Given the description of an element on the screen output the (x, y) to click on. 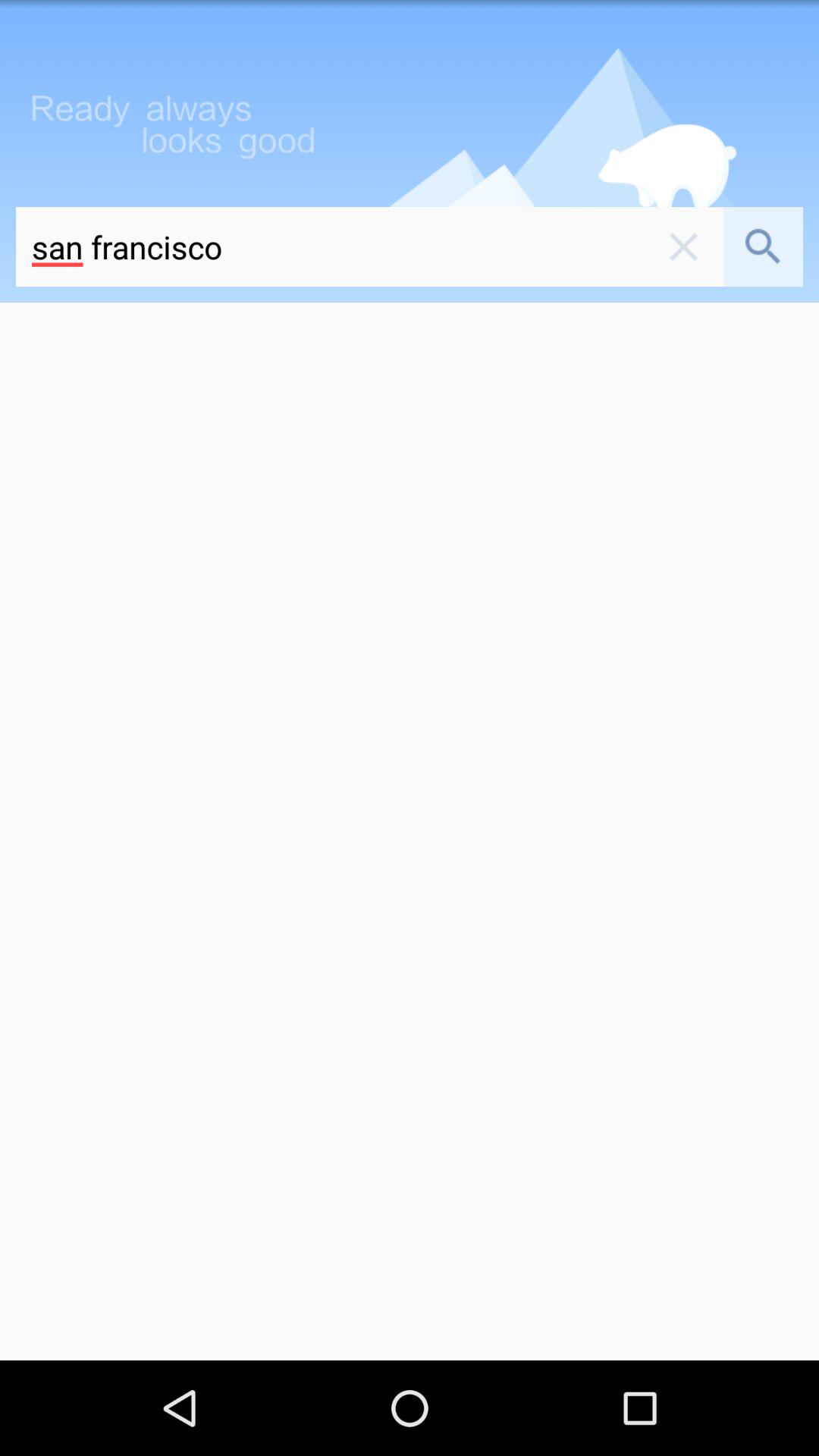
turn on the icon below san francisco (409, 831)
